Given the description of an element on the screen output the (x, y) to click on. 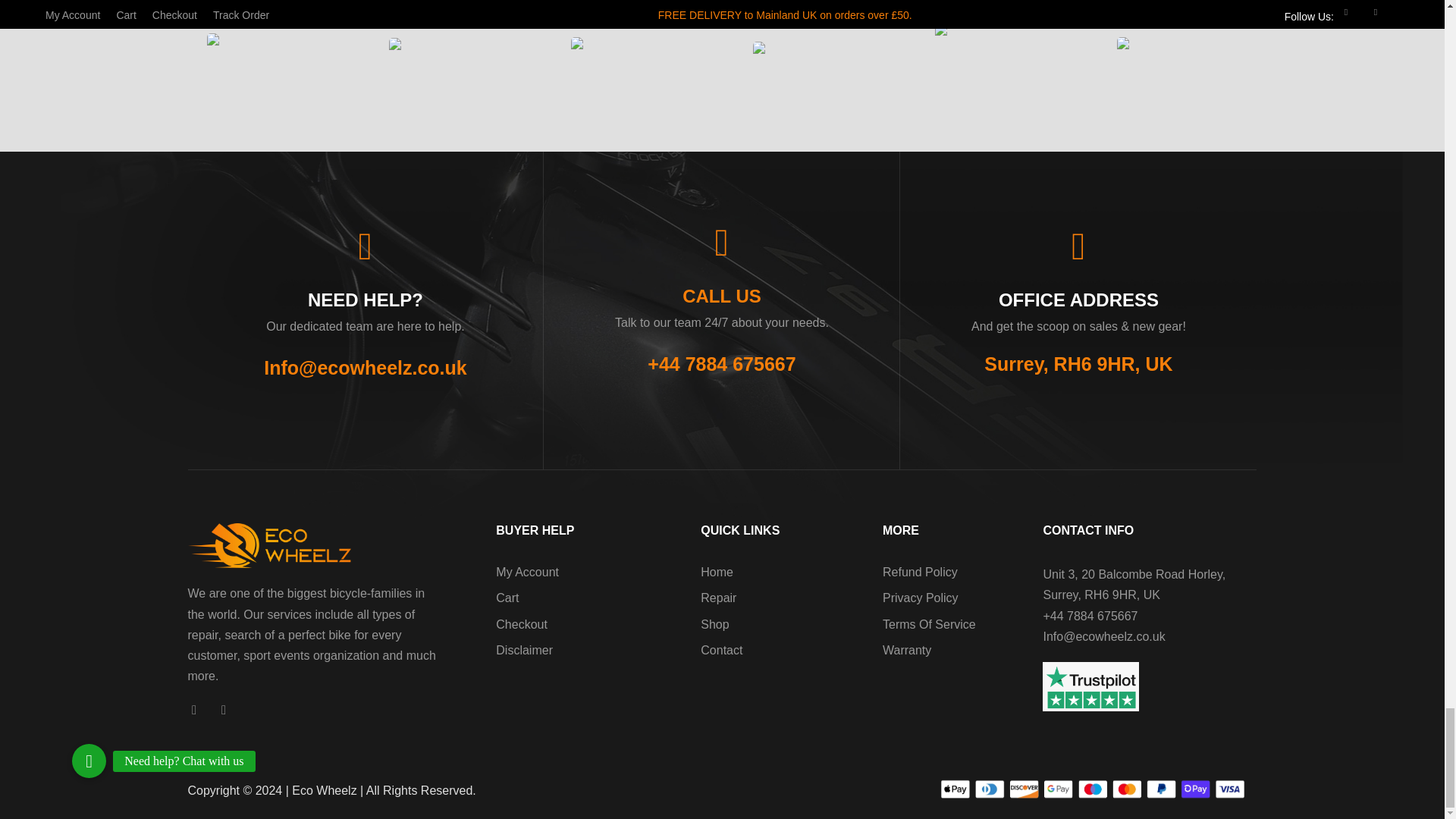
Brand Name (267, 54)
Brand Name (449, 53)
Brand Name (995, 53)
Brand Name (631, 53)
Brand Name (813, 54)
Brand Name (1177, 53)
